Given the description of an element on the screen output the (x, y) to click on. 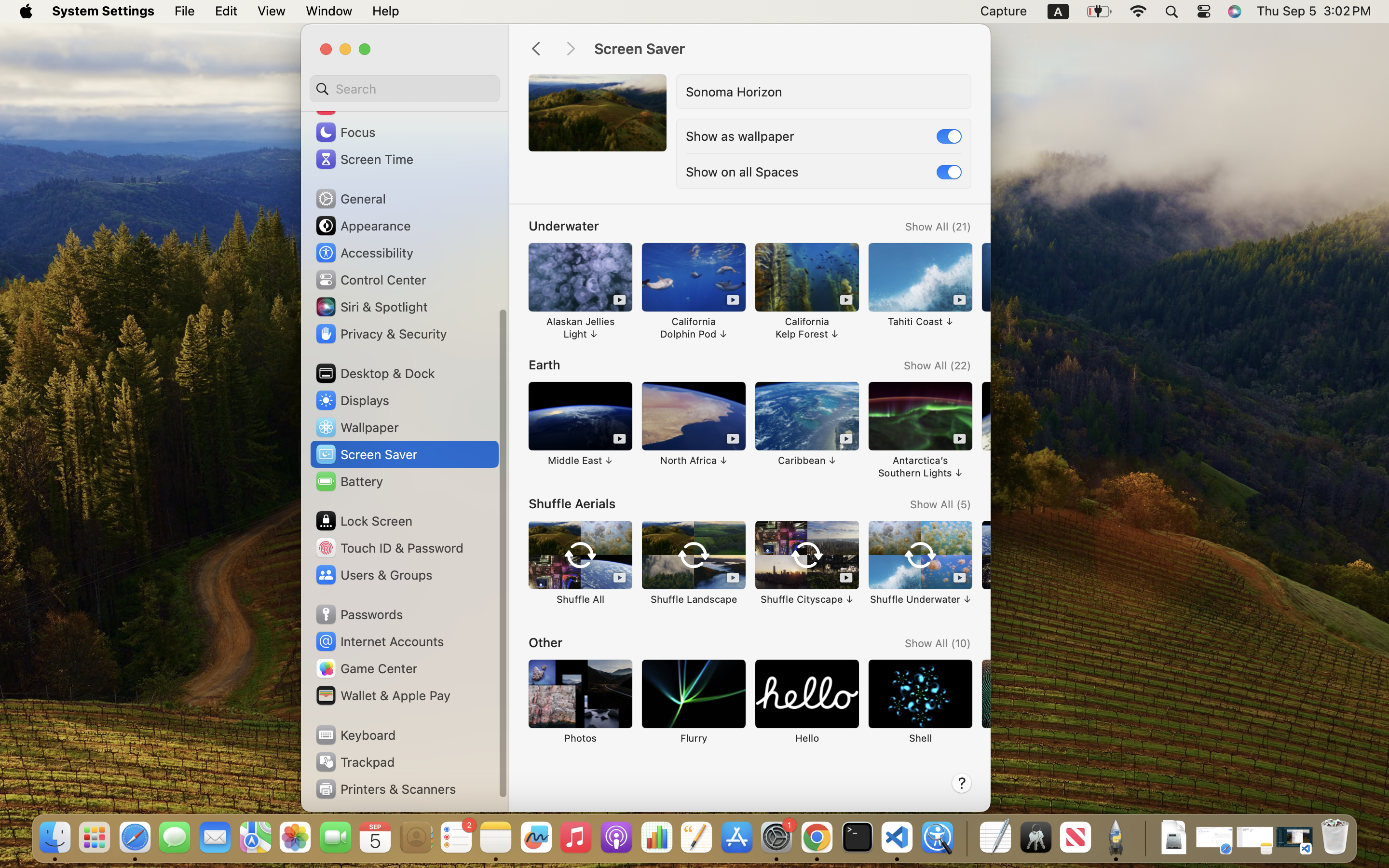
Screen Saver Element type: AXStaticText (782, 49)
Siri & Spotlight Element type: AXStaticText (370, 306)
0.4285714328289032 Element type: AXDockItem (965, 837)
Passwords Element type: AXStaticText (358, 613)
Lock Screen Element type: AXStaticText (363, 520)
